Given the description of an element on the screen output the (x, y) to click on. 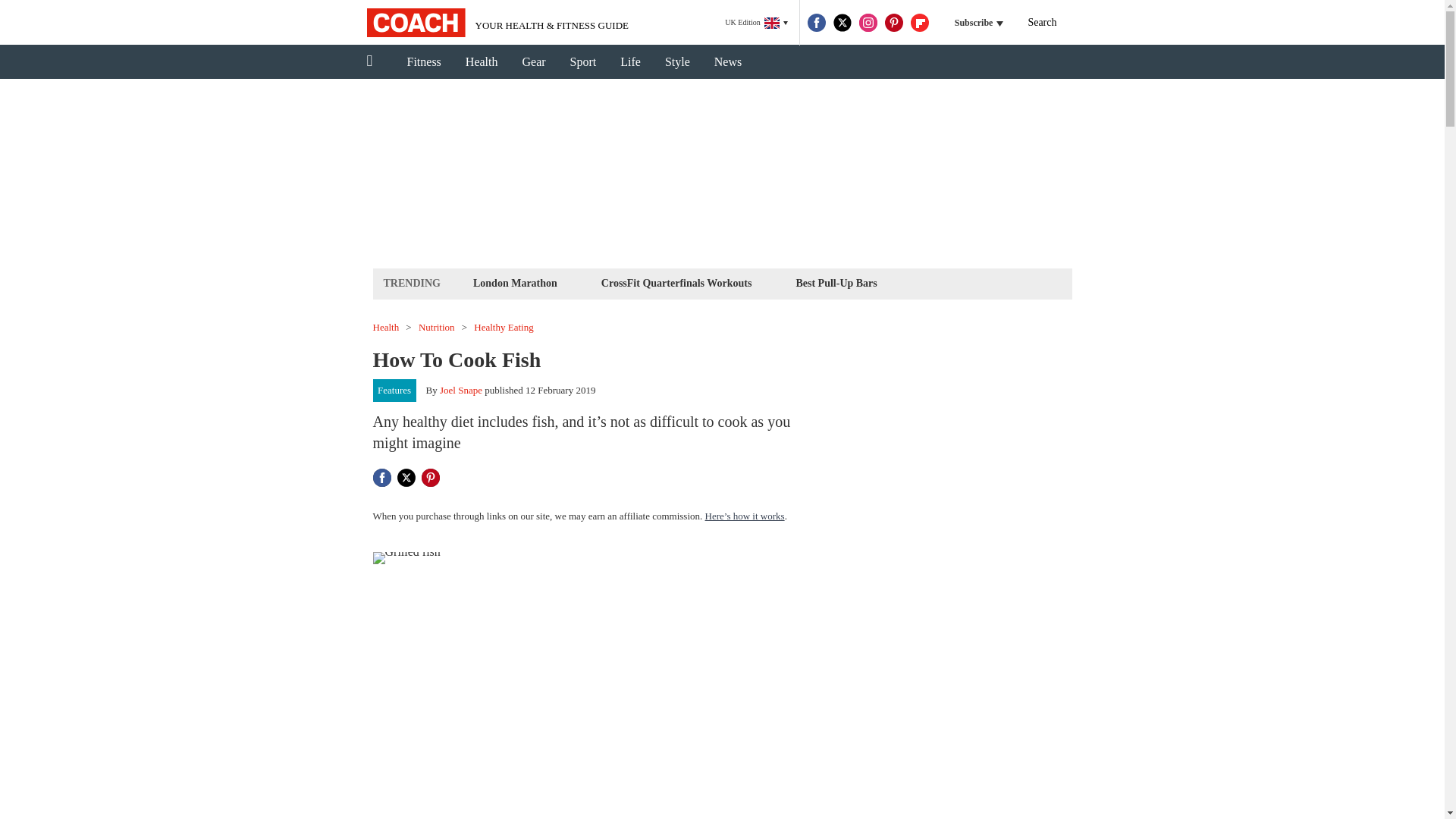
Style (676, 61)
London Marathon (514, 282)
News (727, 61)
Gear (533, 61)
UK Edition (755, 22)
Joel Snape (460, 389)
Features (394, 390)
Health (481, 61)
Sport (582, 61)
Best Pull-Up Bars (836, 282)
